Given the description of an element on the screen output the (x, y) to click on. 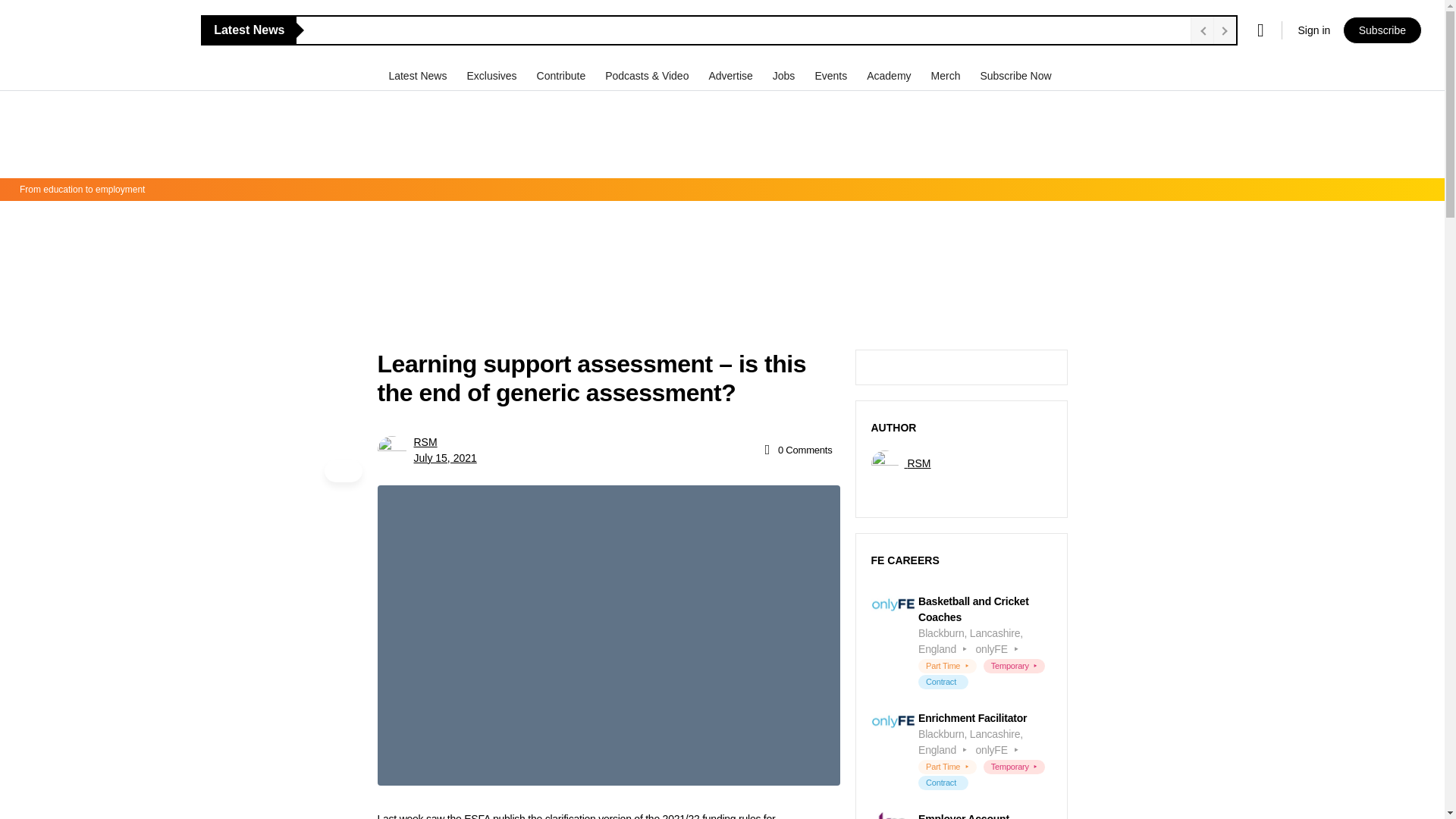
Exclusives (493, 75)
Subscribe (1382, 30)
Latest News (419, 75)
Sign in (1313, 30)
